Given the description of an element on the screen output the (x, y) to click on. 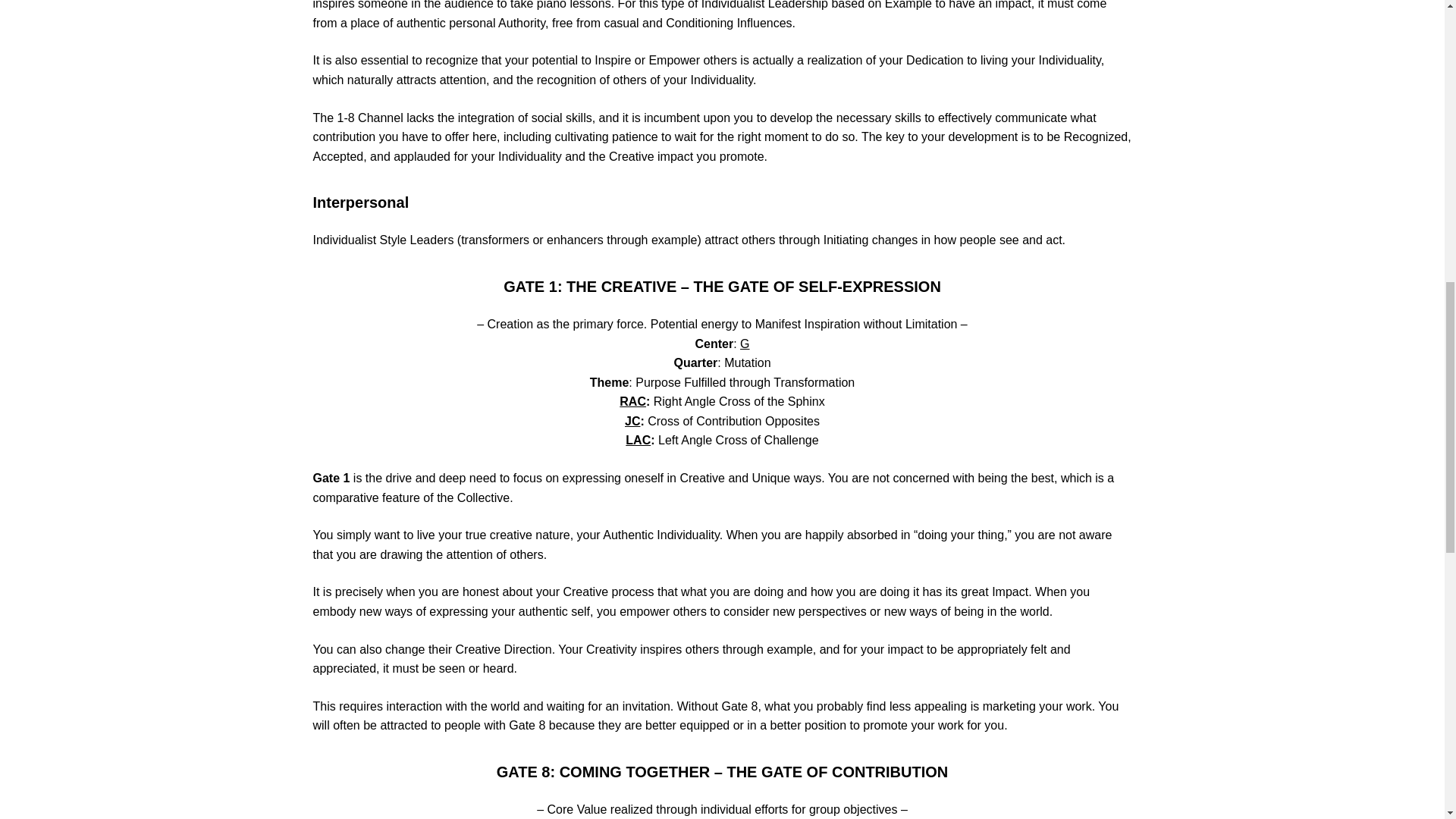
RAC (633, 400)
JC (632, 420)
LAC (638, 440)
G (744, 343)
